Given the description of an element on the screen output the (x, y) to click on. 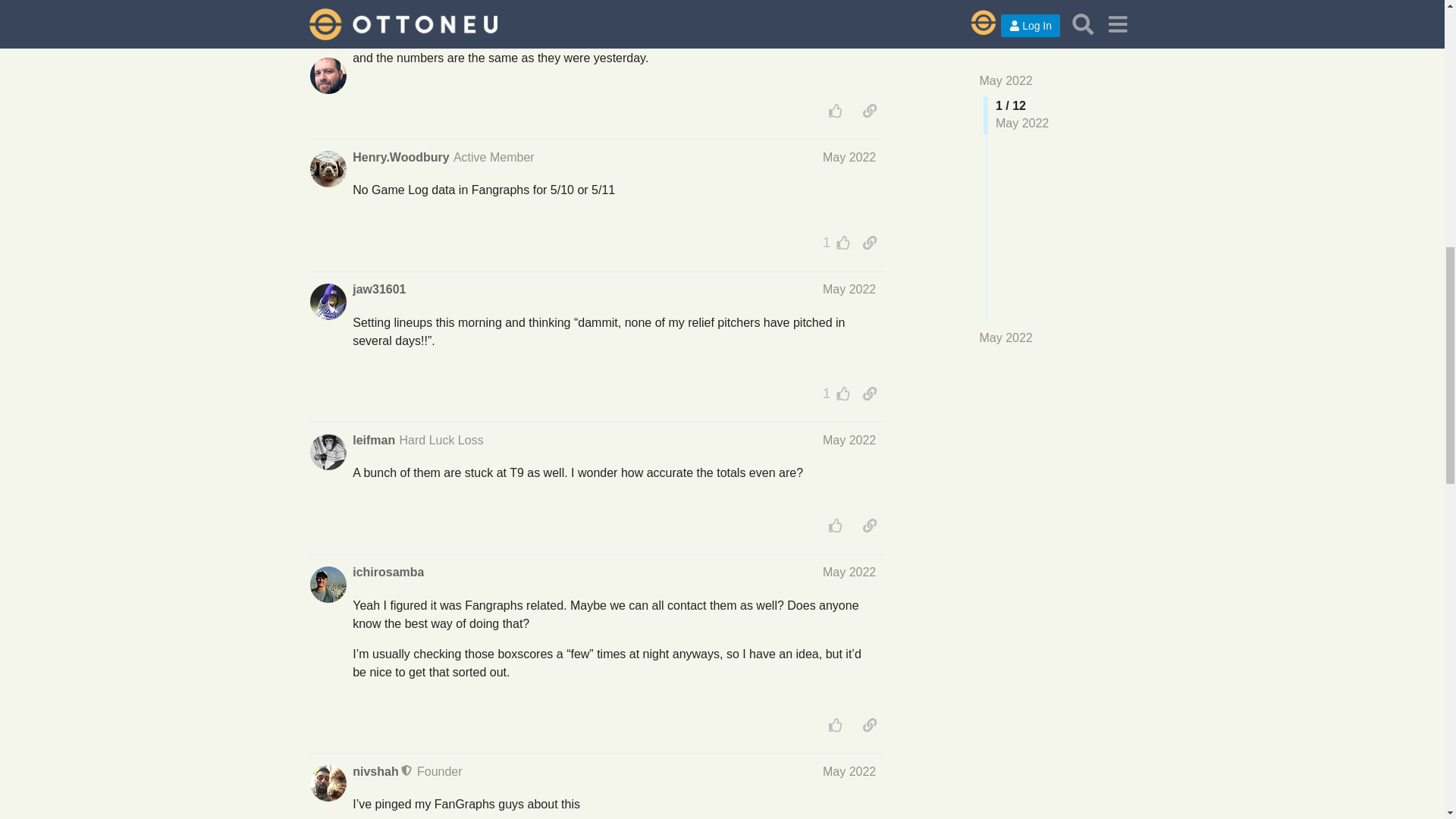
g00s3 (369, 7)
May 2022 (849, 6)
